Given the description of an element on the screen output the (x, y) to click on. 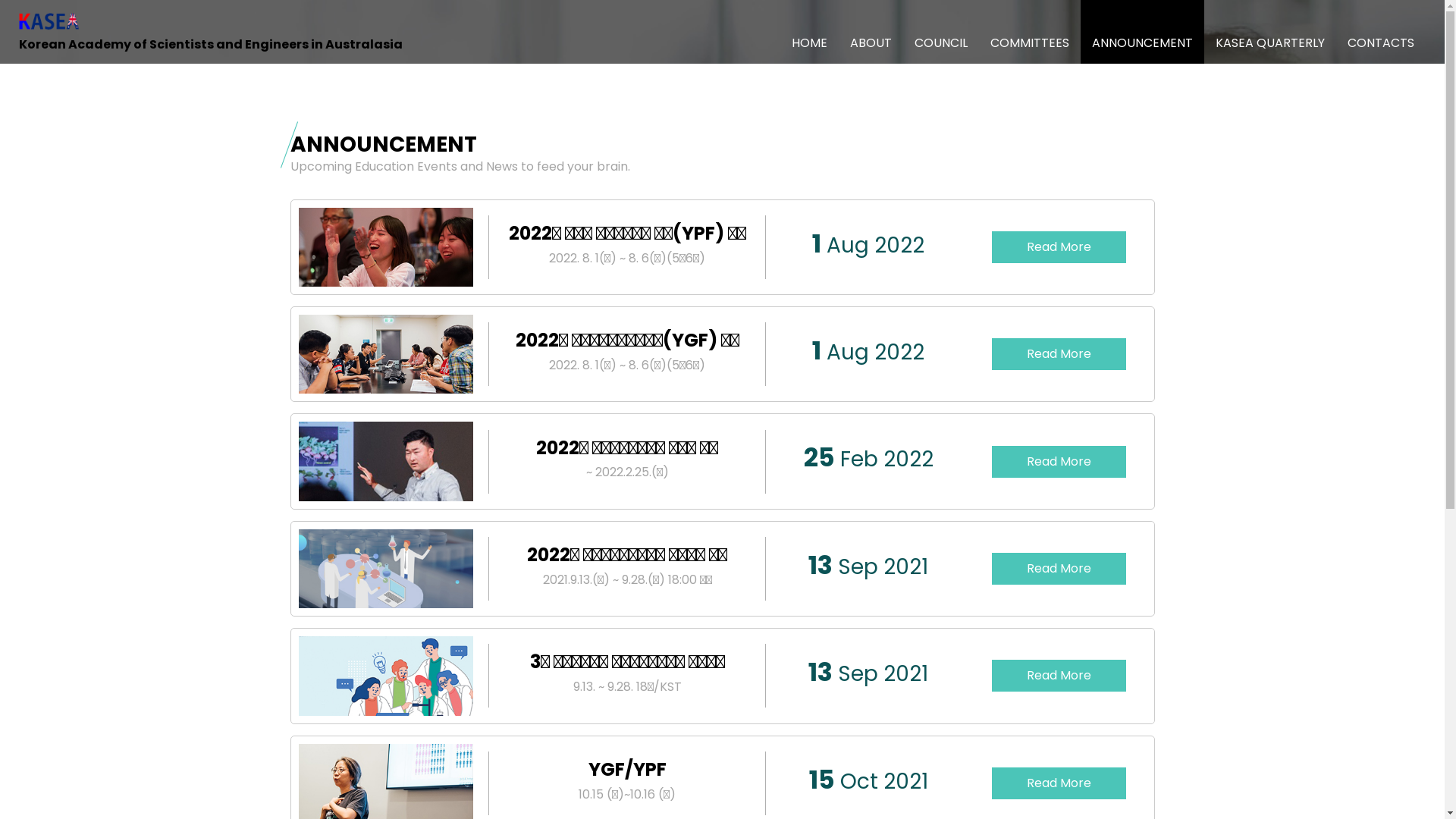
Read More Element type: text (1058, 568)
COUNCIL
(CURRENT) Element type: text (941, 31)
Read More Element type: text (1058, 675)
COMMITTEES Element type: text (1029, 31)
Read More Element type: text (1058, 783)
HOME Element type: text (809, 31)
Read More Element type: text (1058, 461)
ABOUT Element type: text (870, 31)
ANNOUNCEMENT Element type: text (1142, 31)
Read More Element type: text (1058, 354)
Korean Academy of Scientists and Engineers in Australasia Element type: text (210, 31)
KASEA QUARTERLY Element type: text (1270, 31)
CONTACTS Element type: text (1380, 31)
Read More Element type: text (1058, 247)
